Given the description of an element on the screen output the (x, y) to click on. 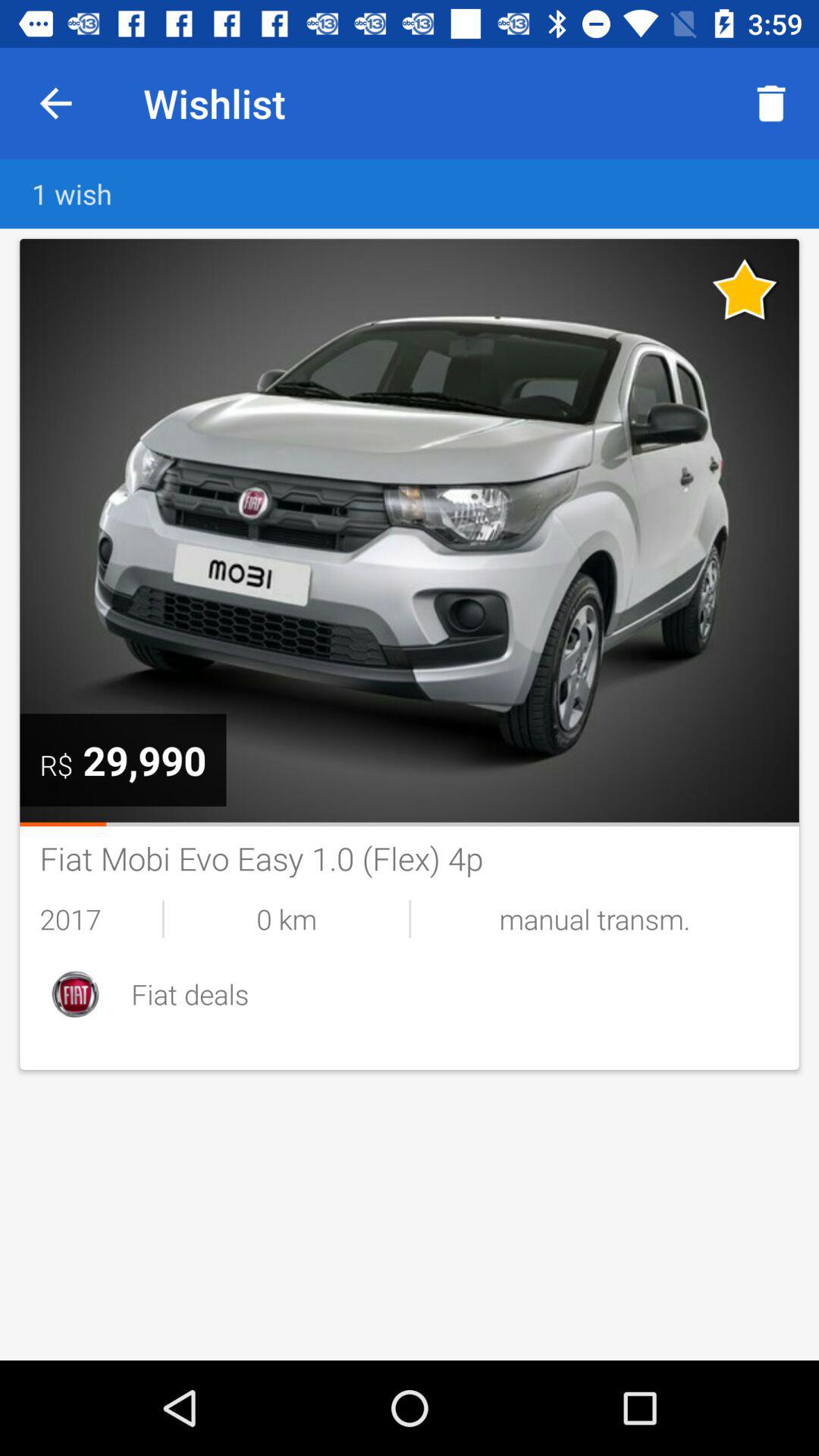
swipe to the 29,990 item (144, 759)
